Given the description of an element on the screen output the (x, y) to click on. 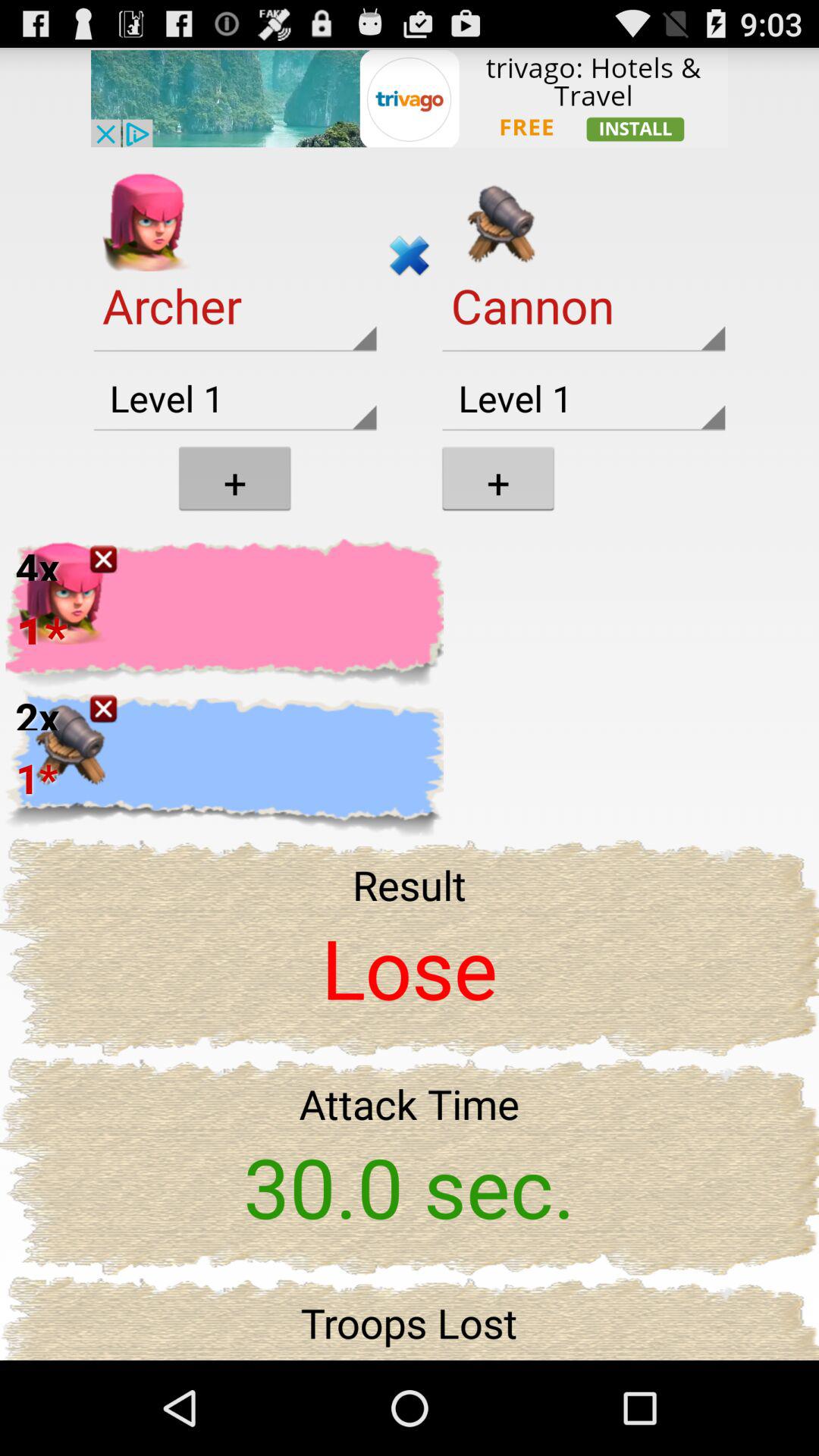
go to the trivago website (409, 97)
